Given the description of an element on the screen output the (x, y) to click on. 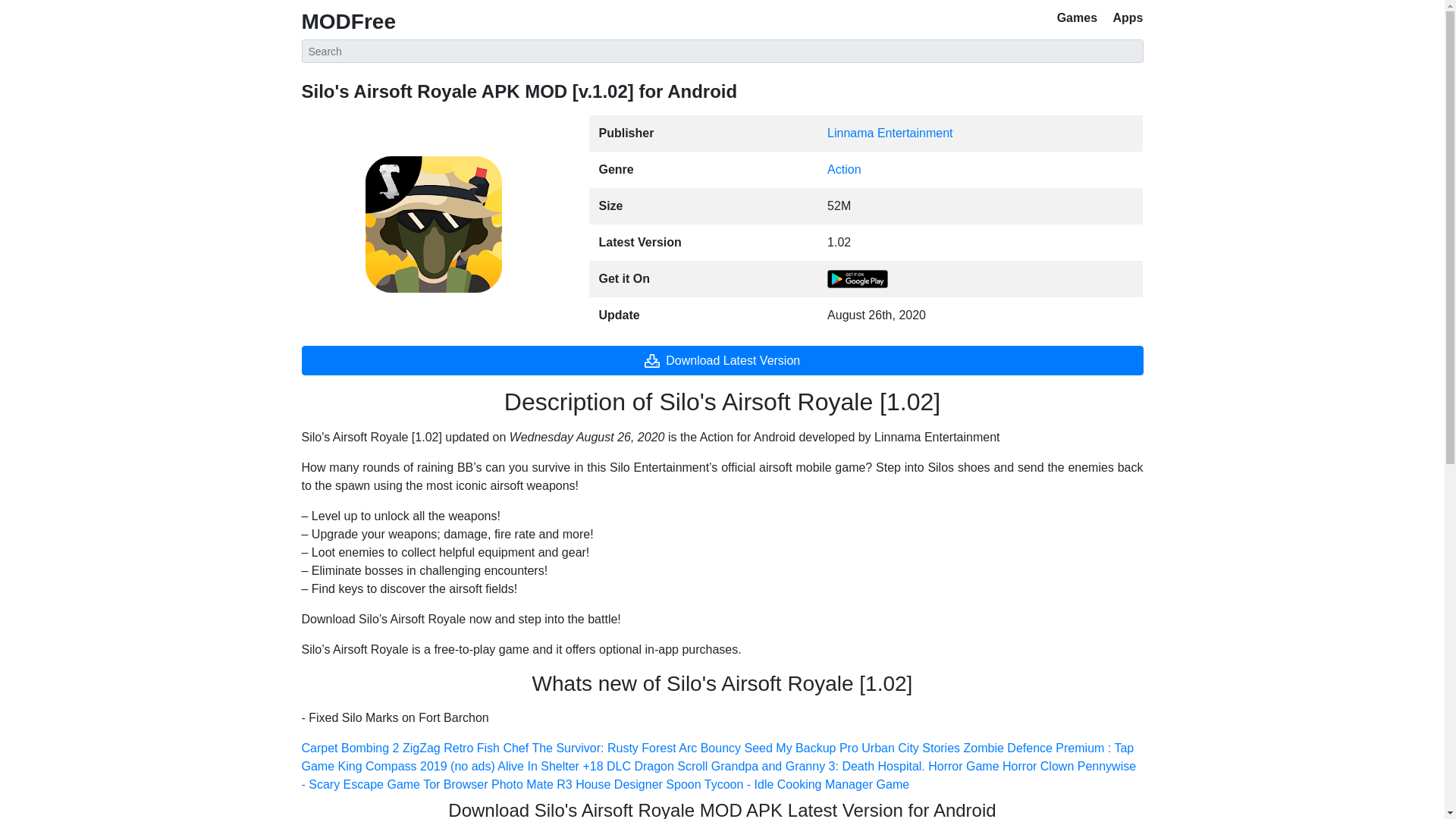
Spoon Tycoon - Idle Cooking Manager Game (786, 784)
Photo Mate R3 (532, 784)
ZigZag (422, 748)
House Designer (618, 784)
Photo Mate R3 (532, 784)
MODFree (348, 21)
Linnama Entertainment (889, 132)
Carpet Bombing 2 (349, 748)
Retro Fish Chef (486, 748)
Urban City Stories (910, 748)
